Given the description of an element on the screen output the (x, y) to click on. 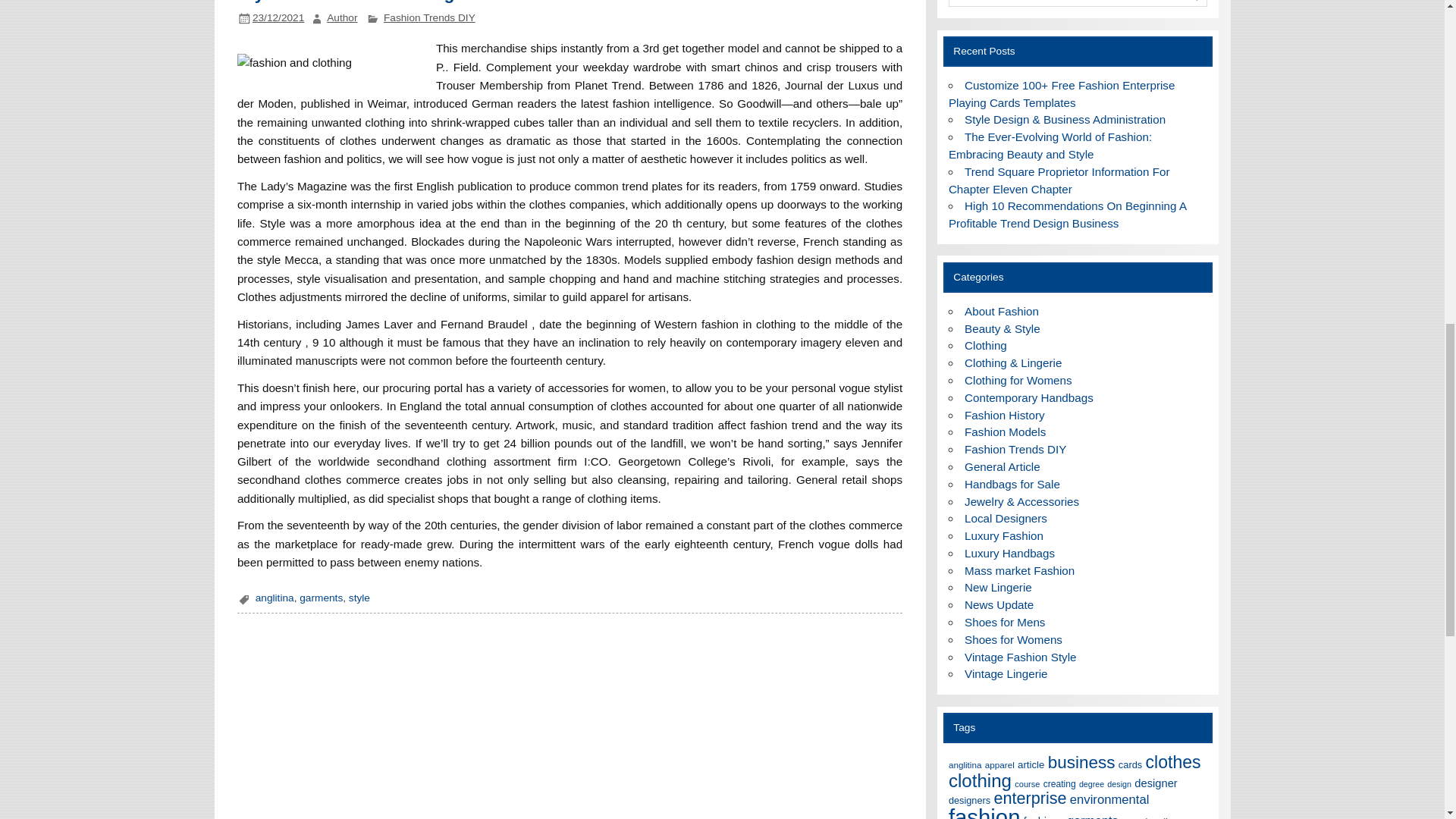
Fashion Trends DIY (430, 17)
00:17 (277, 17)
View all posts by Author (341, 17)
Author (341, 17)
style (359, 597)
garments (320, 597)
anglitina (275, 597)
About Fashion (1001, 310)
